Given the description of an element on the screen output the (x, y) to click on. 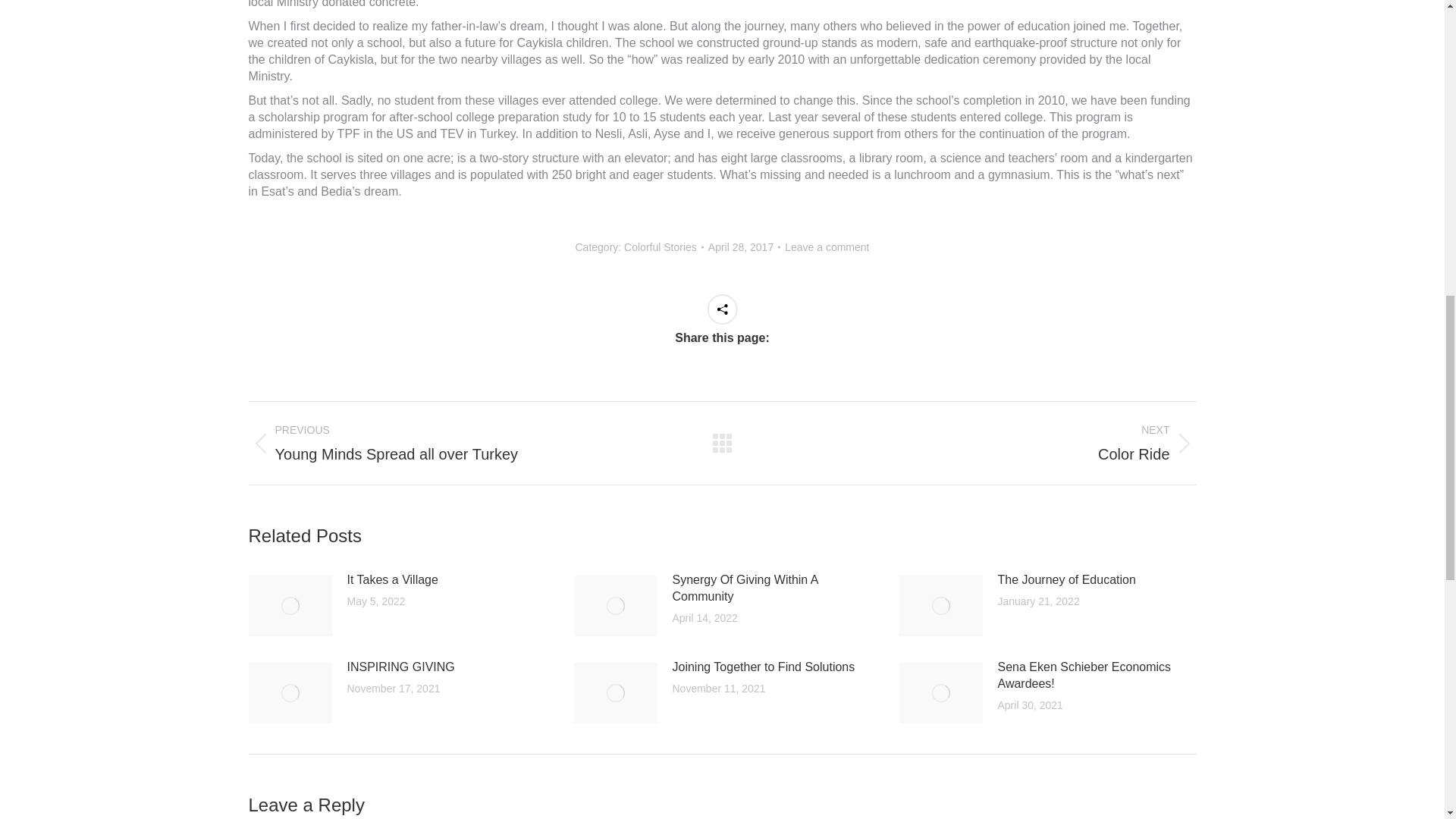
Leave a comment (468, 443)
It Takes a Village (826, 247)
4:07 pm (392, 579)
Colorful Stories (743, 247)
April 28, 2017 (975, 443)
Synergy Of Giving Within A Community (660, 246)
